Given the description of an element on the screen output the (x, y) to click on. 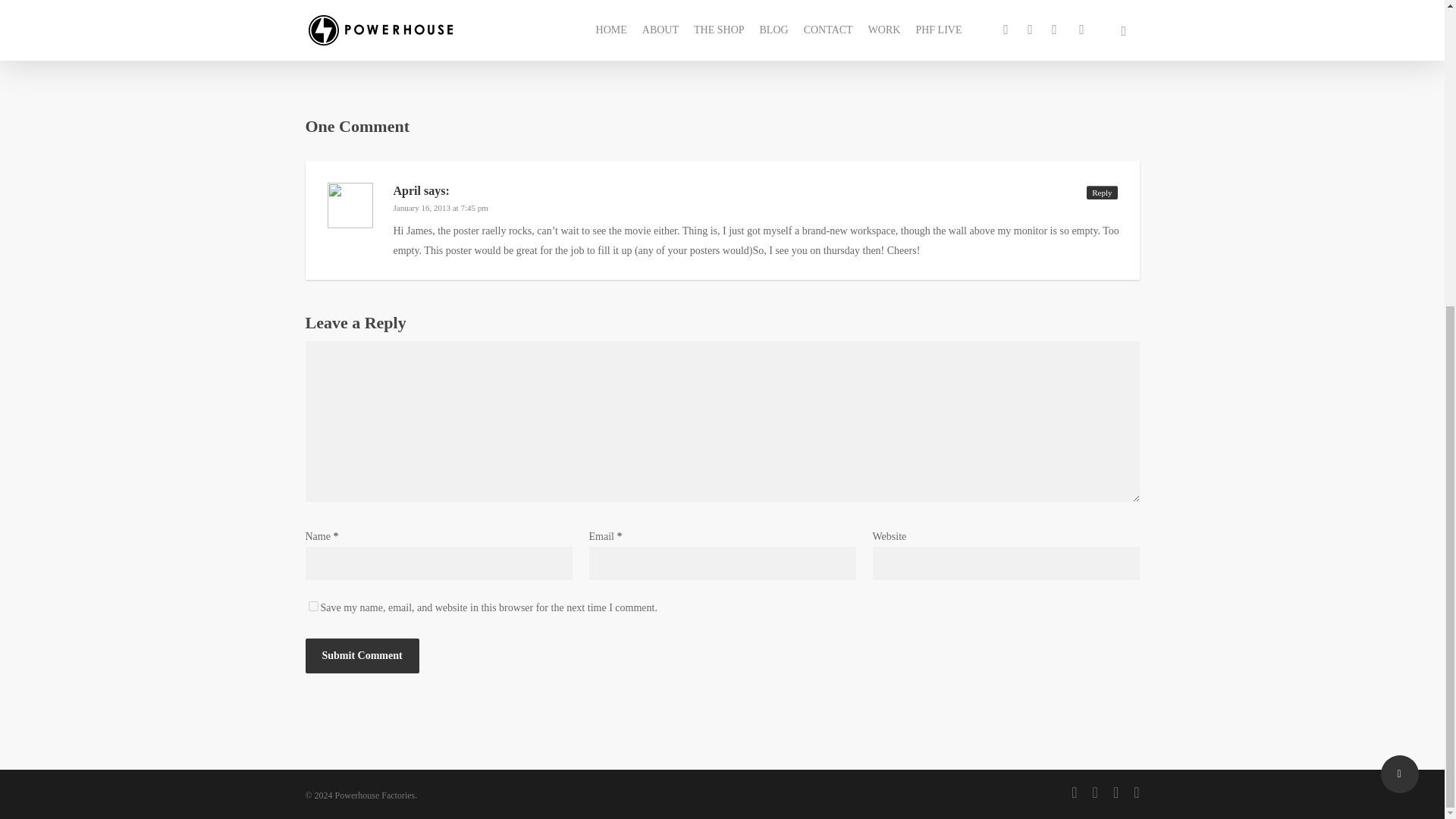
yes (312, 605)
January 16, 2013 at 7:45 pm (440, 207)
Submit Comment (361, 655)
April (406, 190)
Submit Comment (361, 655)
Reply (1101, 192)
